Given the description of an element on the screen output the (x, y) to click on. 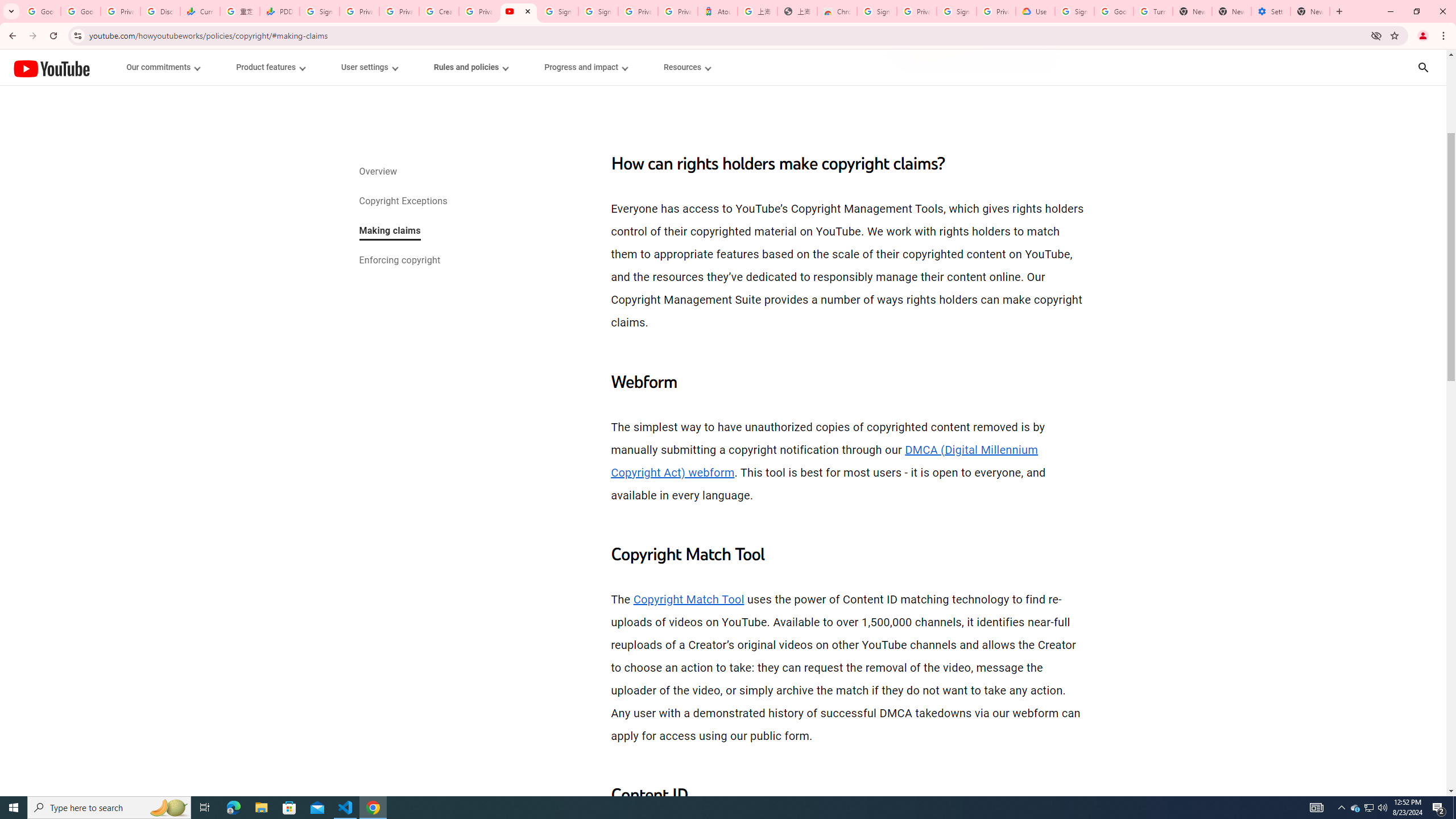
YouTube (51, 68)
Overview (377, 172)
User settings menupopup (368, 67)
Reload (52, 35)
Copyright Exceptions (402, 202)
Minimize (1390, 11)
Forward (32, 35)
